Given the description of an element on the screen output the (x, y) to click on. 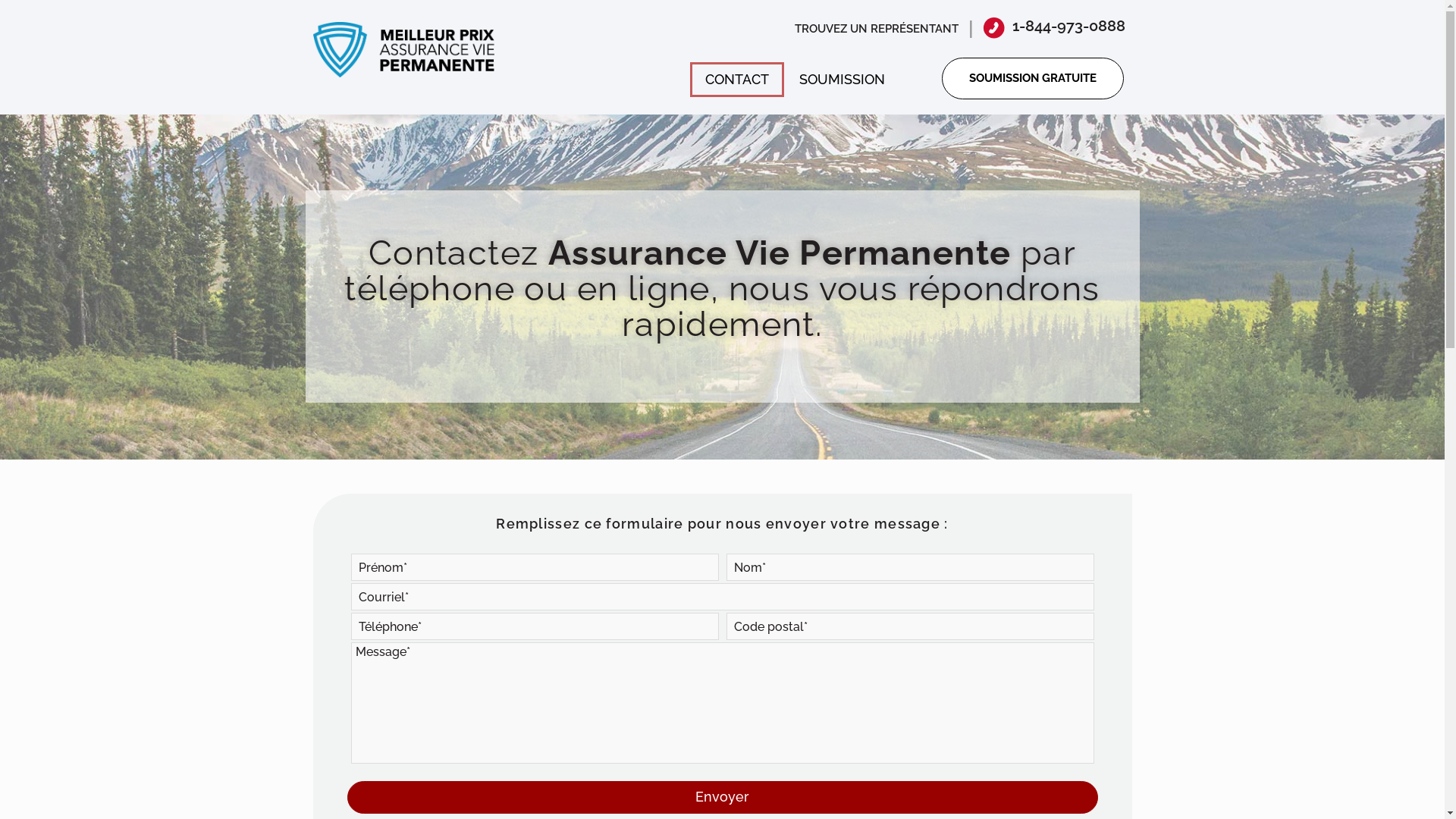
SOUMISSION GRATUITE Element type: text (1032, 78)
1-844-973-0888 Element type: text (1068, 25)
Envoyer Element type: text (722, 797)
CONTACT Element type: text (737, 79)
SOUMISSION Element type: text (842, 79)
